Given the description of an element on the screen output the (x, y) to click on. 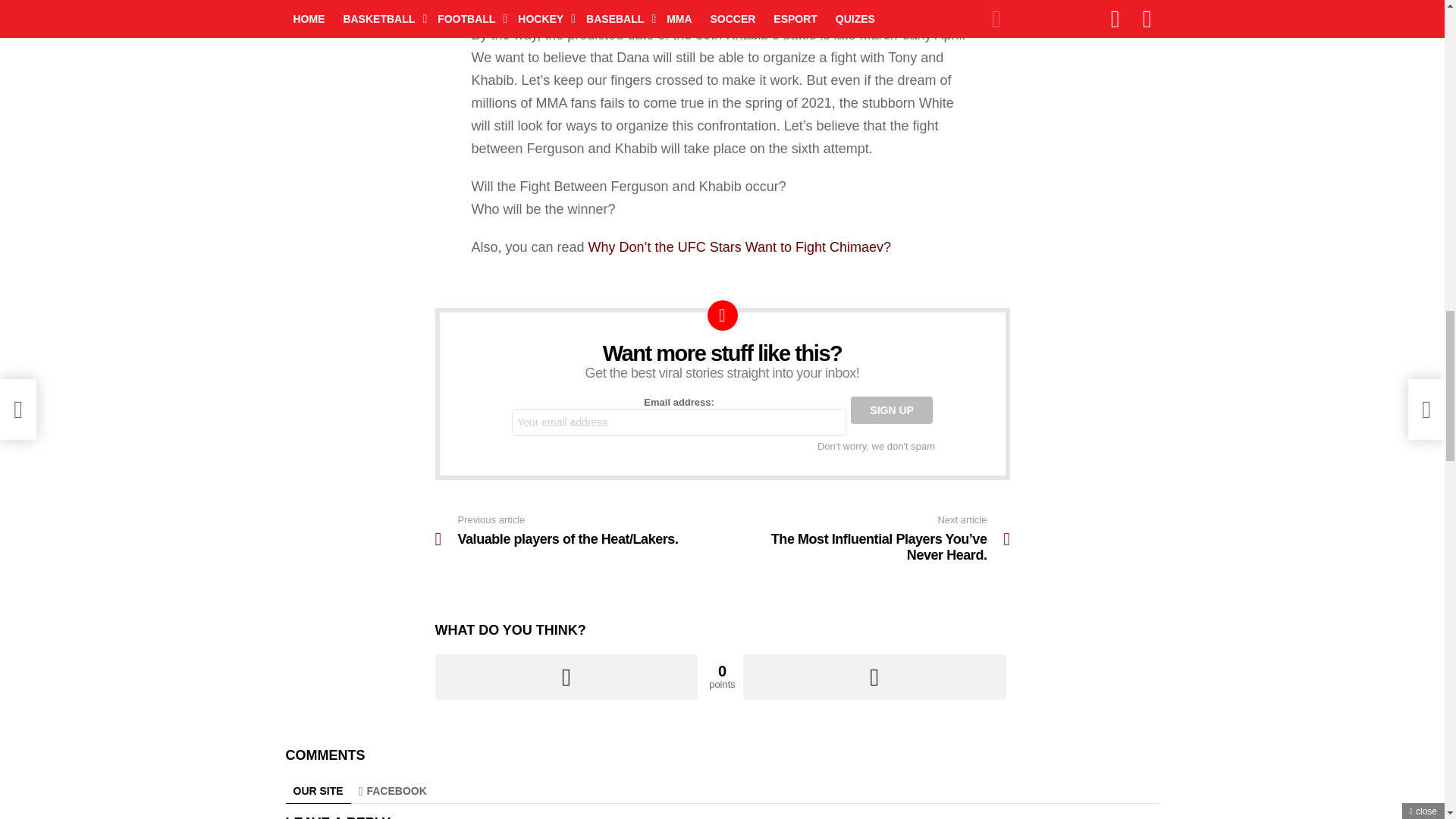
Downvote (874, 677)
Downvote (874, 677)
Sign up (891, 410)
Upvote (566, 677)
Sign up (891, 410)
Upvote (566, 677)
